Given the description of an element on the screen output the (x, y) to click on. 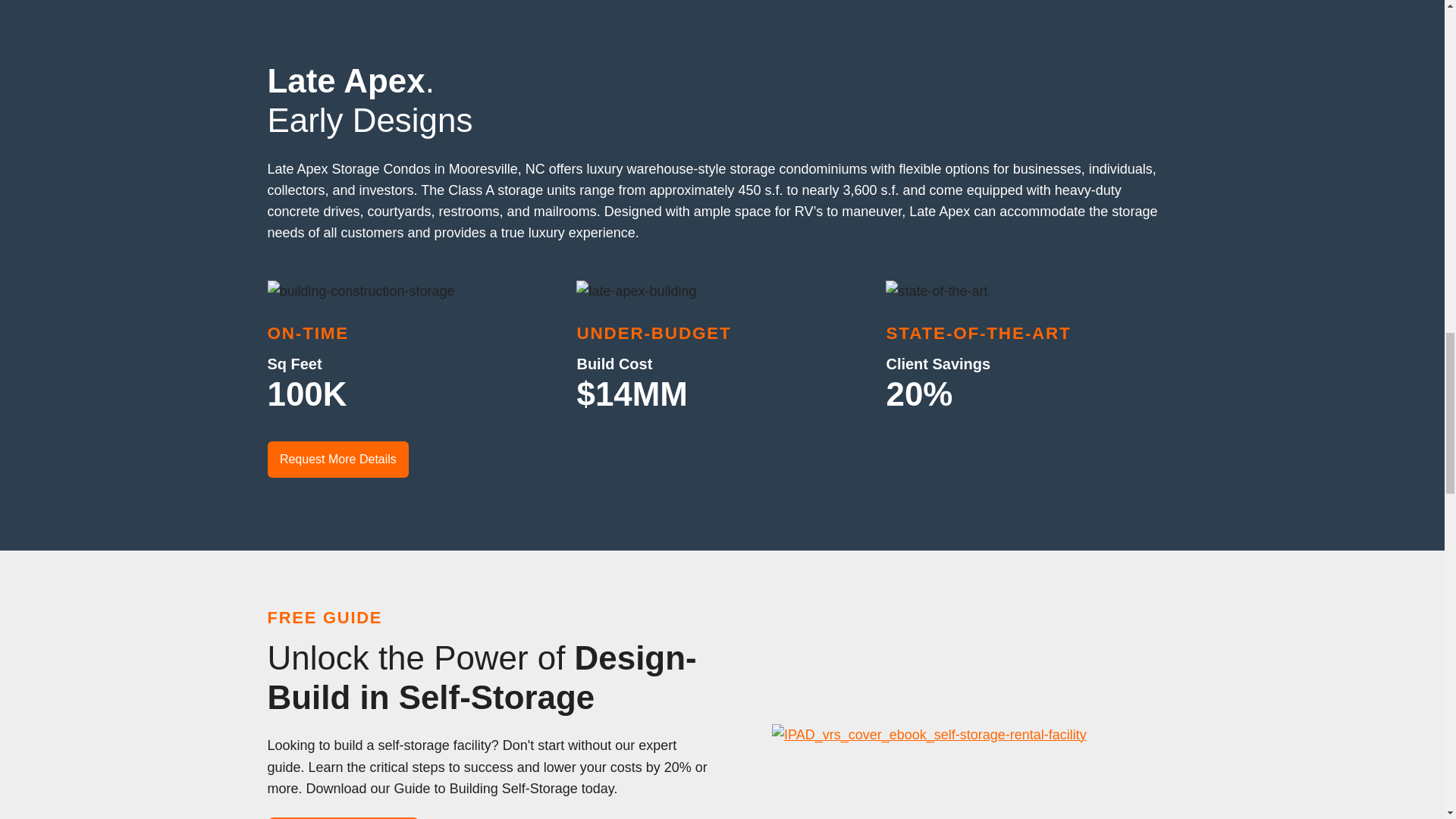
building-construction-storage (360, 291)
state-of-the-art (936, 291)
late-apex-building (635, 291)
